Given the description of an element on the screen output the (x, y) to click on. 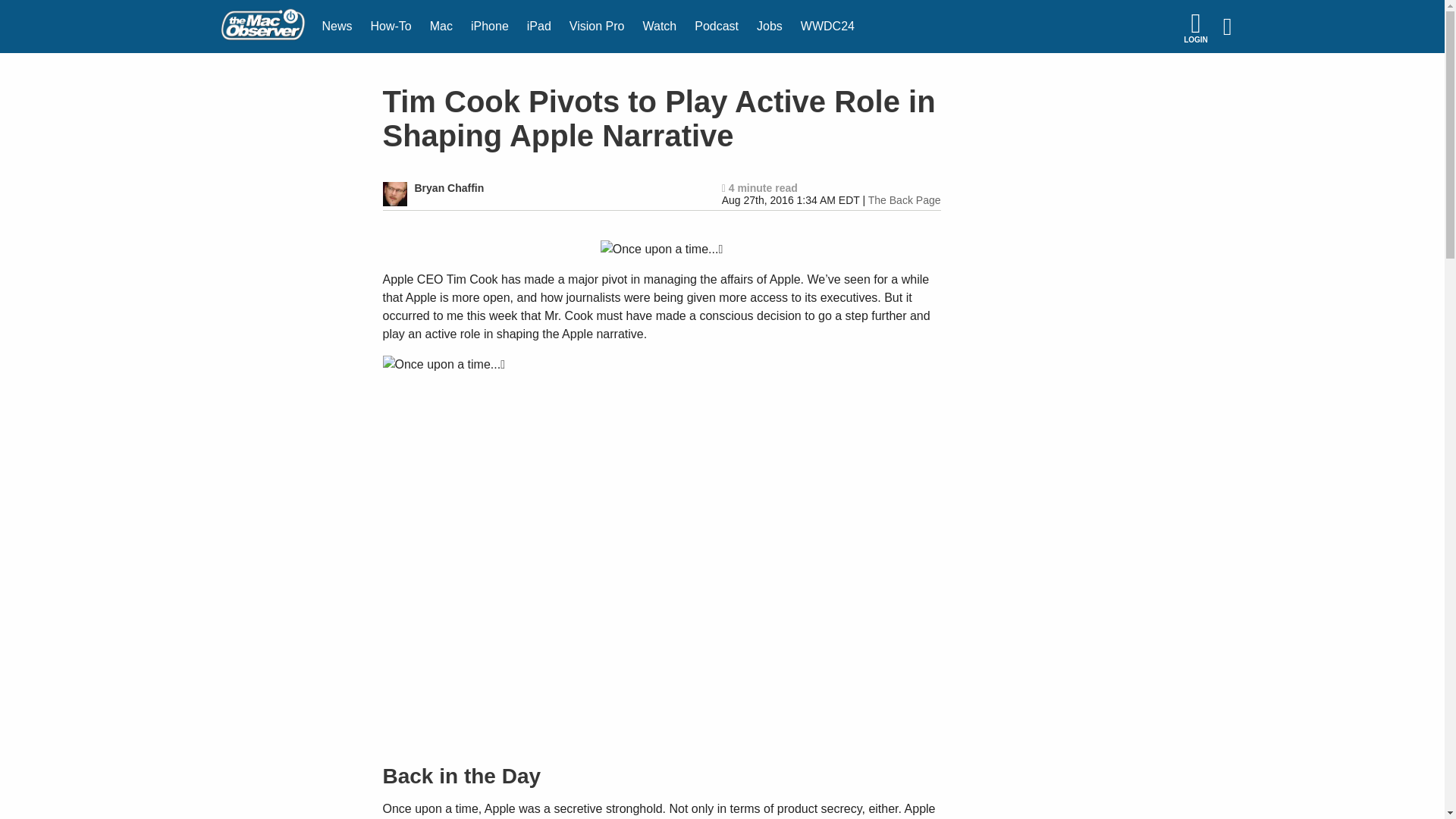
The Back Page (903, 200)
Podcast (716, 26)
Mac (440, 26)
LOGIN (1195, 26)
iPad (539, 26)
WWDC24 (827, 26)
The Mac Observer (262, 26)
How-To (390, 26)
News (337, 26)
Mac (440, 26)
iPad (539, 26)
iPhone (489, 26)
Vision Pro (596, 26)
Podcast (716, 26)
How-To (390, 26)
